Given the description of an element on the screen output the (x, y) to click on. 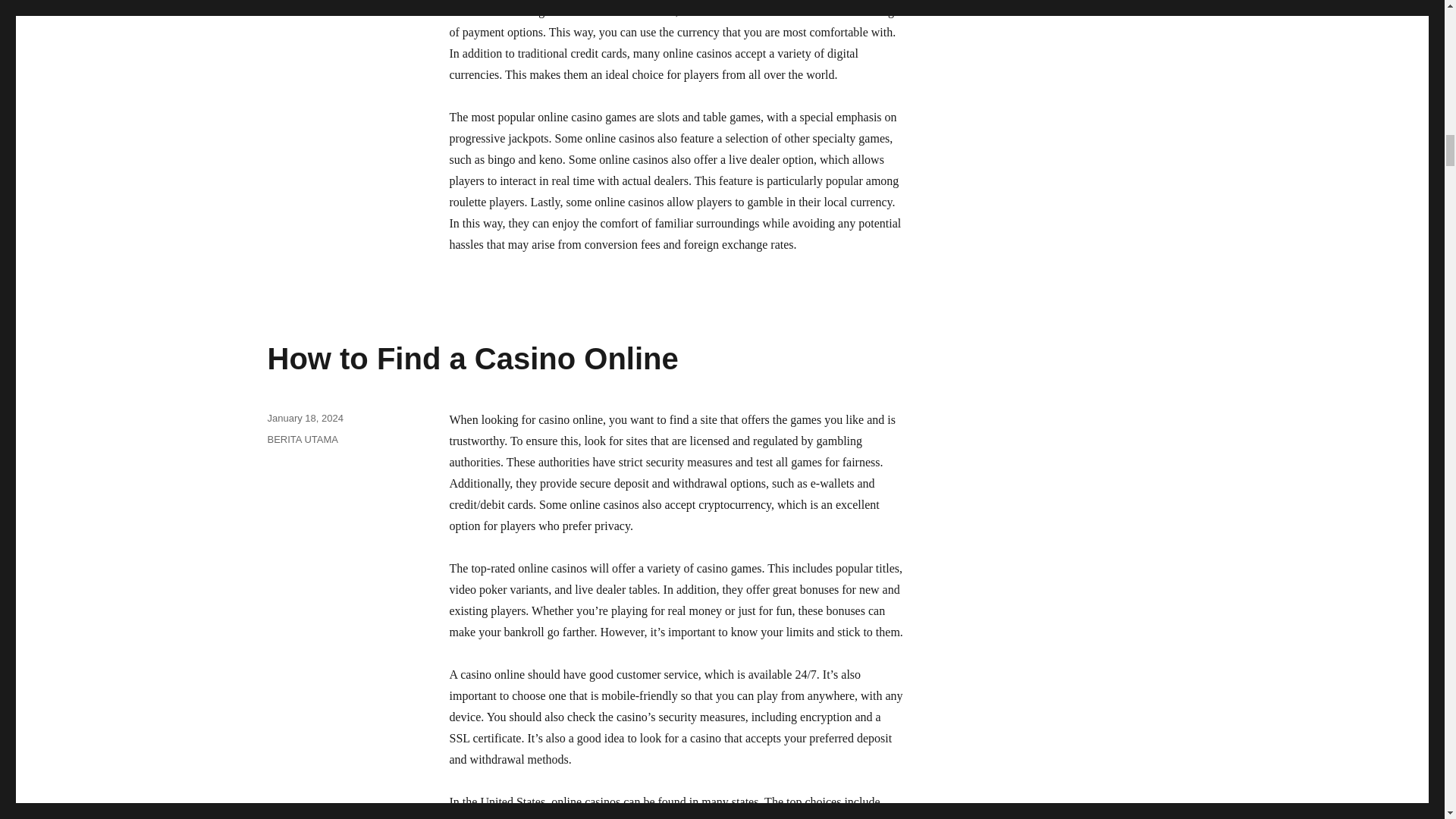
BERITA UTAMA (301, 439)
January 18, 2024 (304, 418)
How to Find a Casino Online (472, 358)
